Given the description of an element on the screen output the (x, y) to click on. 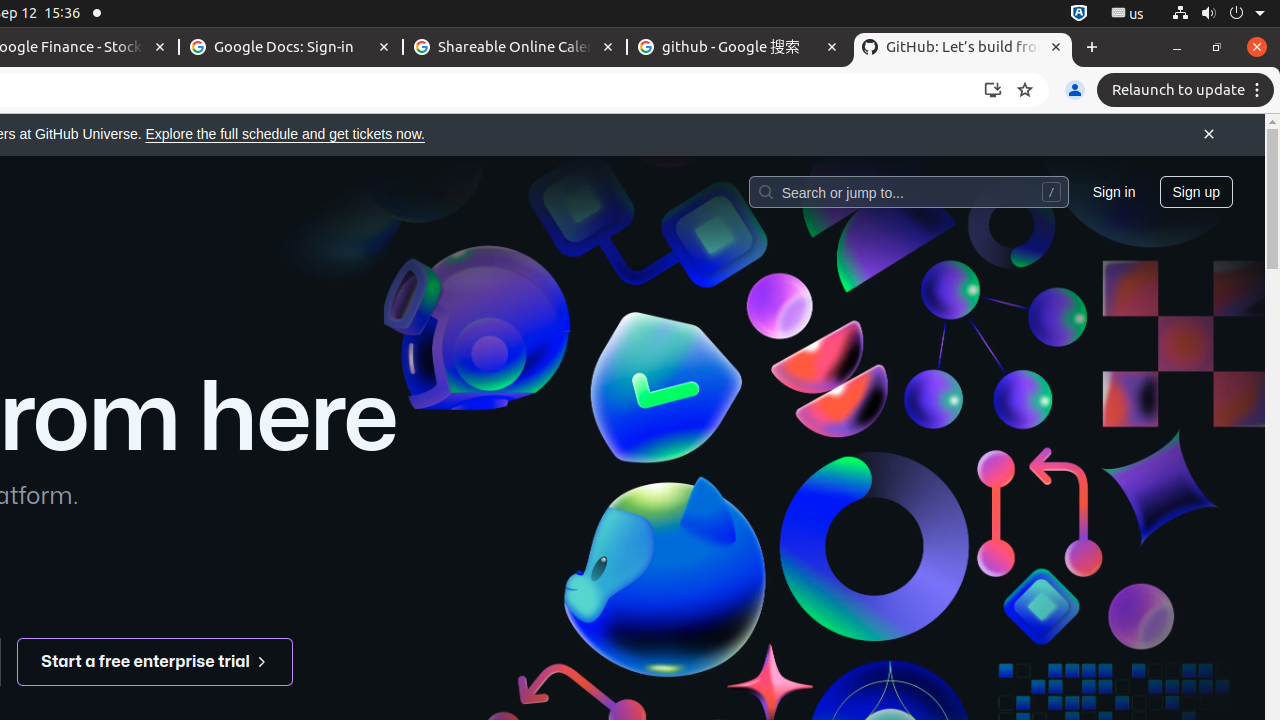
Explore the full schedule and get tickets now. Element type: link (285, 133)
You Element type: push-button (1075, 90)
Search or jump to… Element type: push-button (908, 191)
Install GitHub Element type: push-button (993, 90)
:1.21/StatusNotifierItem Element type: menu (1127, 13)
